Given the description of an element on the screen output the (x, y) to click on. 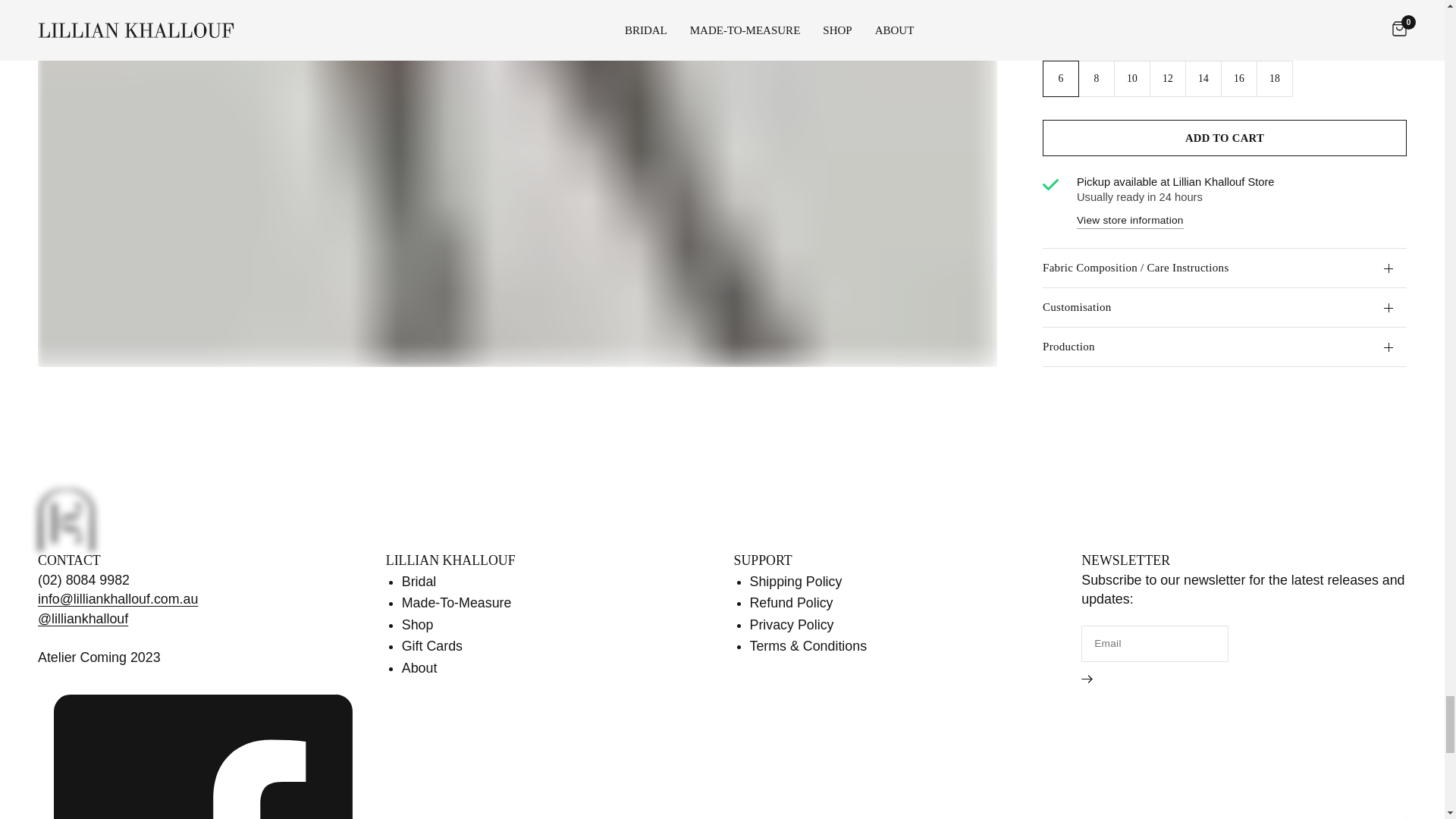
SUPPORT (762, 561)
About (419, 667)
Privacy Policy (790, 624)
Gift Cards (432, 645)
Bridal (418, 581)
Shop (417, 624)
Bridal (418, 581)
Privacy Policy (790, 624)
Gift Cards (432, 645)
Made-To-Measure (456, 602)
